Given the description of an element on the screen output the (x, y) to click on. 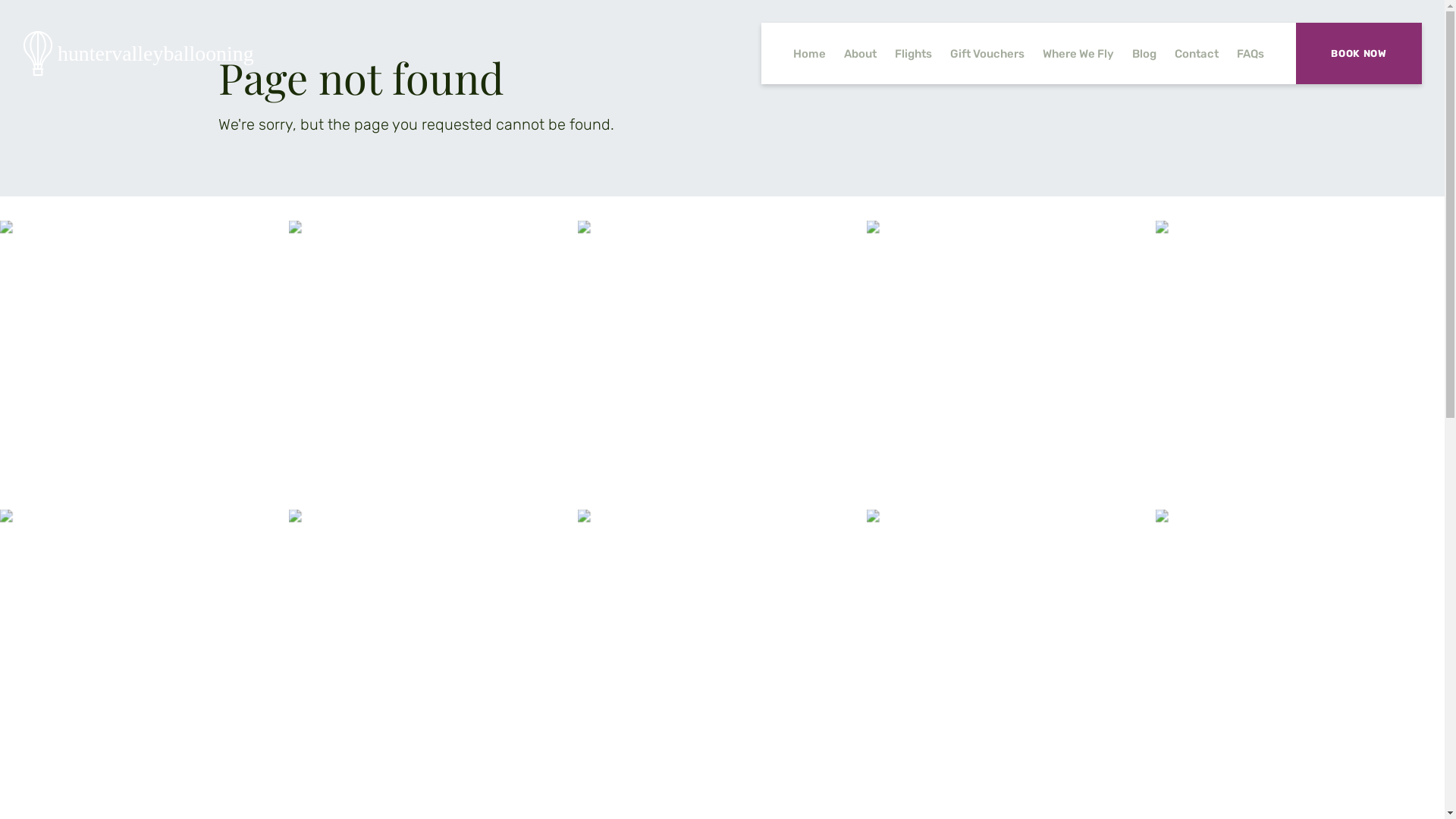
Where We Fly Element type: text (1078, 53)
About Element type: text (859, 53)
BOOK NOW Element type: text (1358, 53)
Blog Element type: text (1144, 53)
Flights Element type: text (913, 53)
Contact Element type: text (1196, 53)
FAQs Element type: text (1250, 53)
Gift Vouchers Element type: text (987, 53)
Home Element type: text (809, 53)
